Given the description of an element on the screen output the (x, y) to click on. 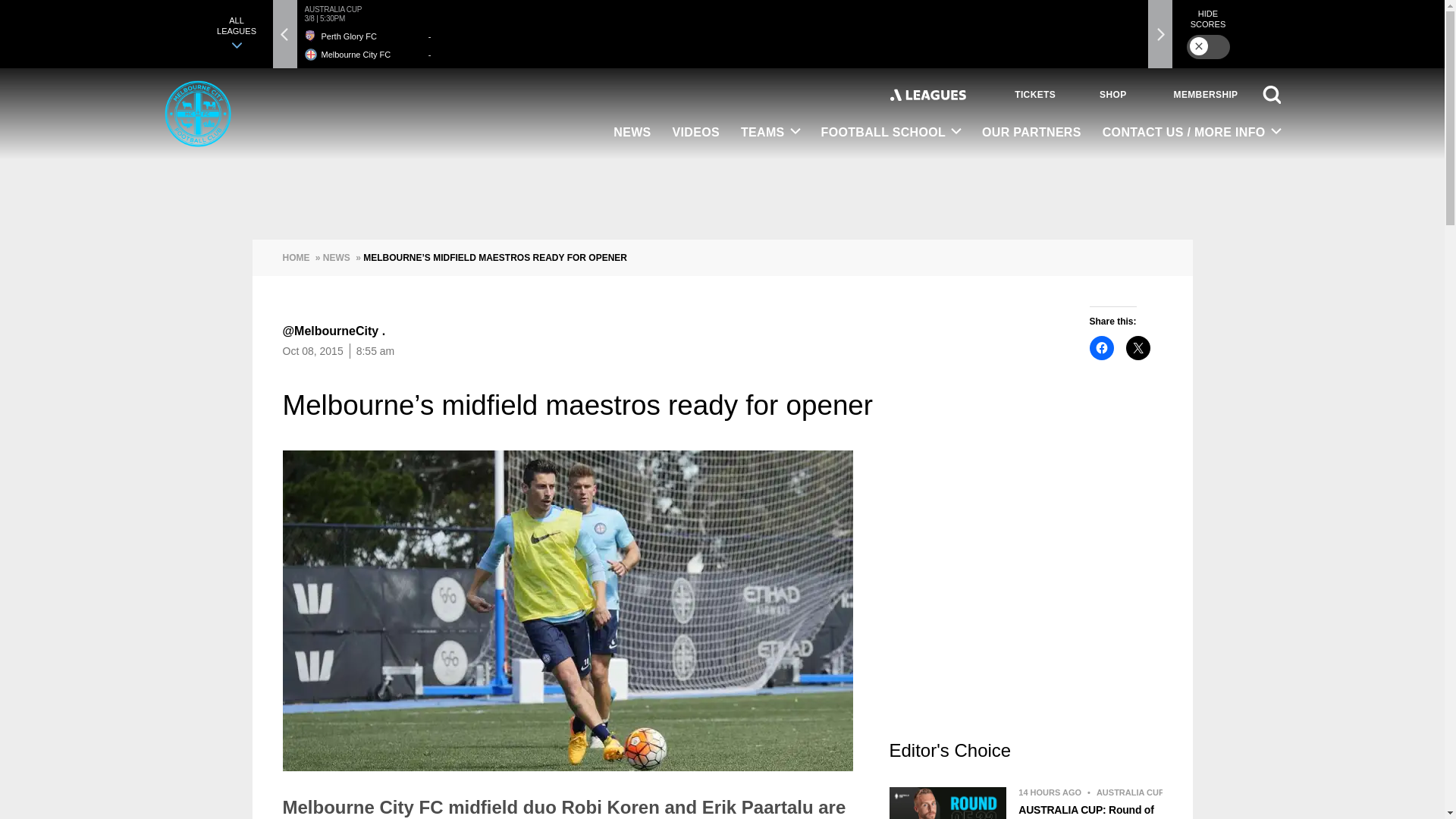
TEAMS (770, 132)
NEWS (631, 133)
VIDEOS (696, 133)
Click to share on X (1137, 347)
3rd party ad content (1024, 594)
Click to share on Facebook (1101, 347)
FOOTBALL SCHOOL (891, 132)
OUR PARTNERS (1031, 133)
